Given the description of an element on the screen output the (x, y) to click on. 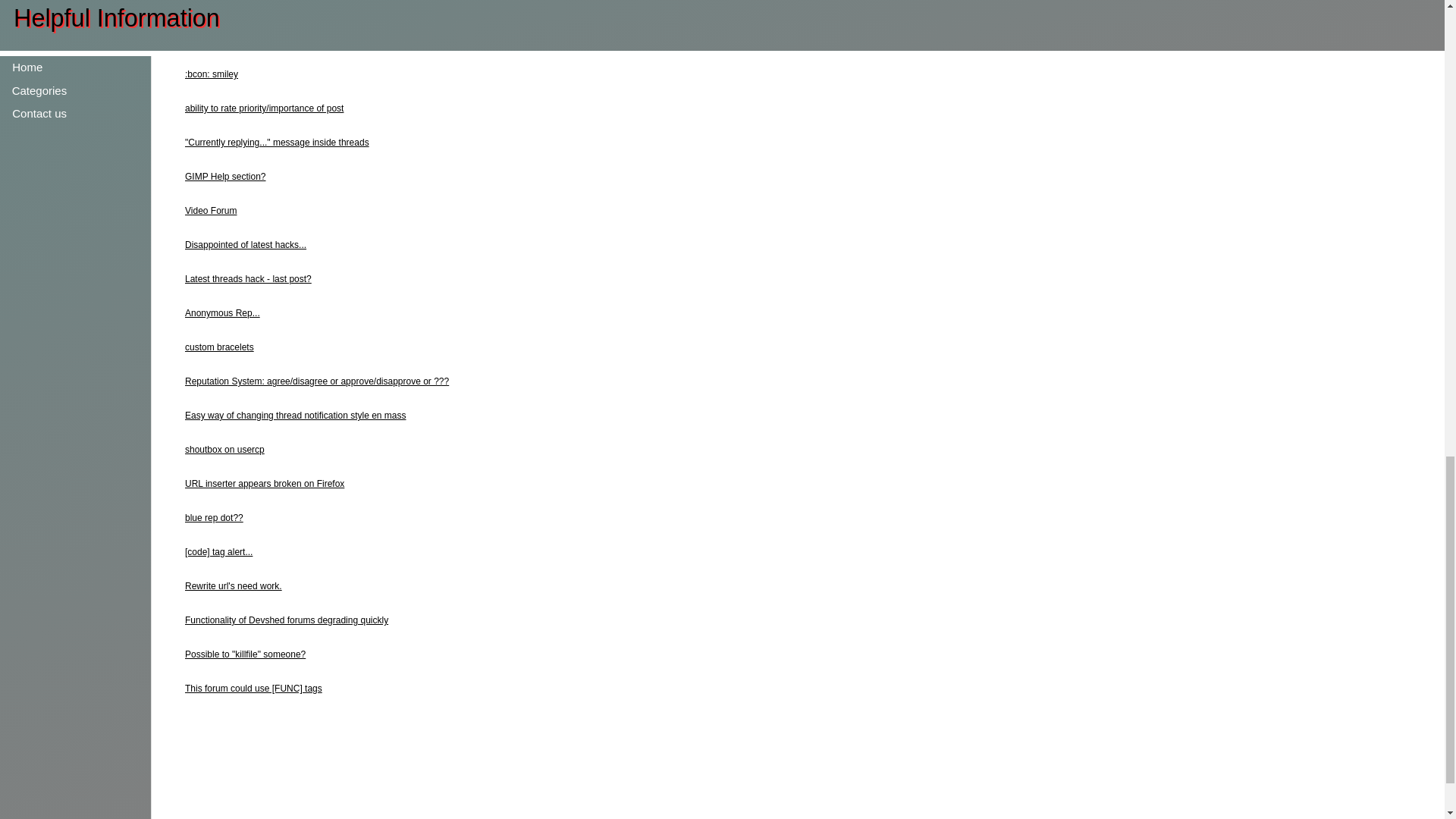
:bcon: smiley (211, 73)
One search every 60 seconds (244, 40)
"Currently replying..." message inside threads (276, 142)
